Given the description of an element on the screen output the (x, y) to click on. 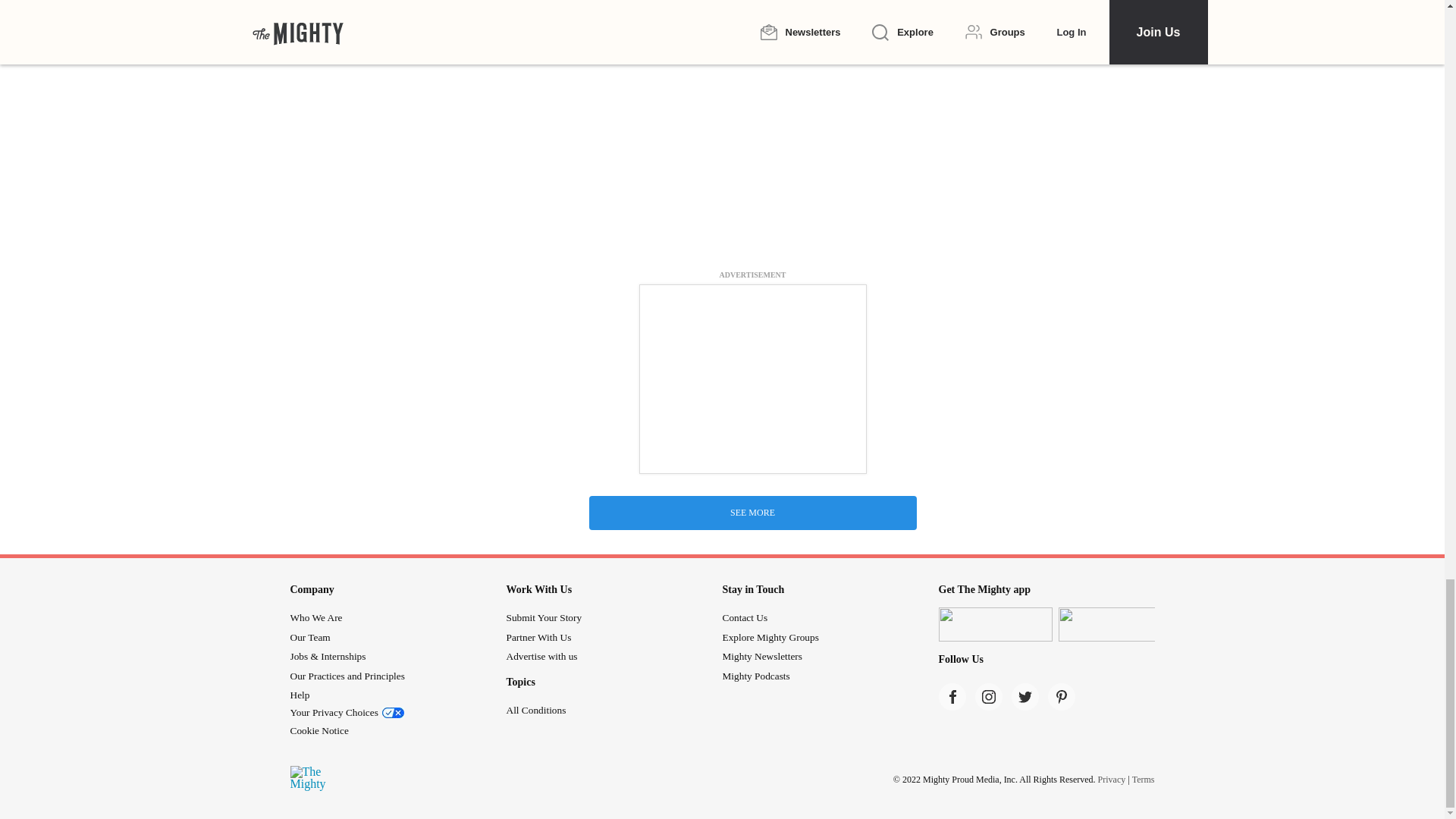
SEE MORE (751, 512)
Our Team (309, 636)
Who We Are (315, 617)
